Given the description of an element on the screen output the (x, y) to click on. 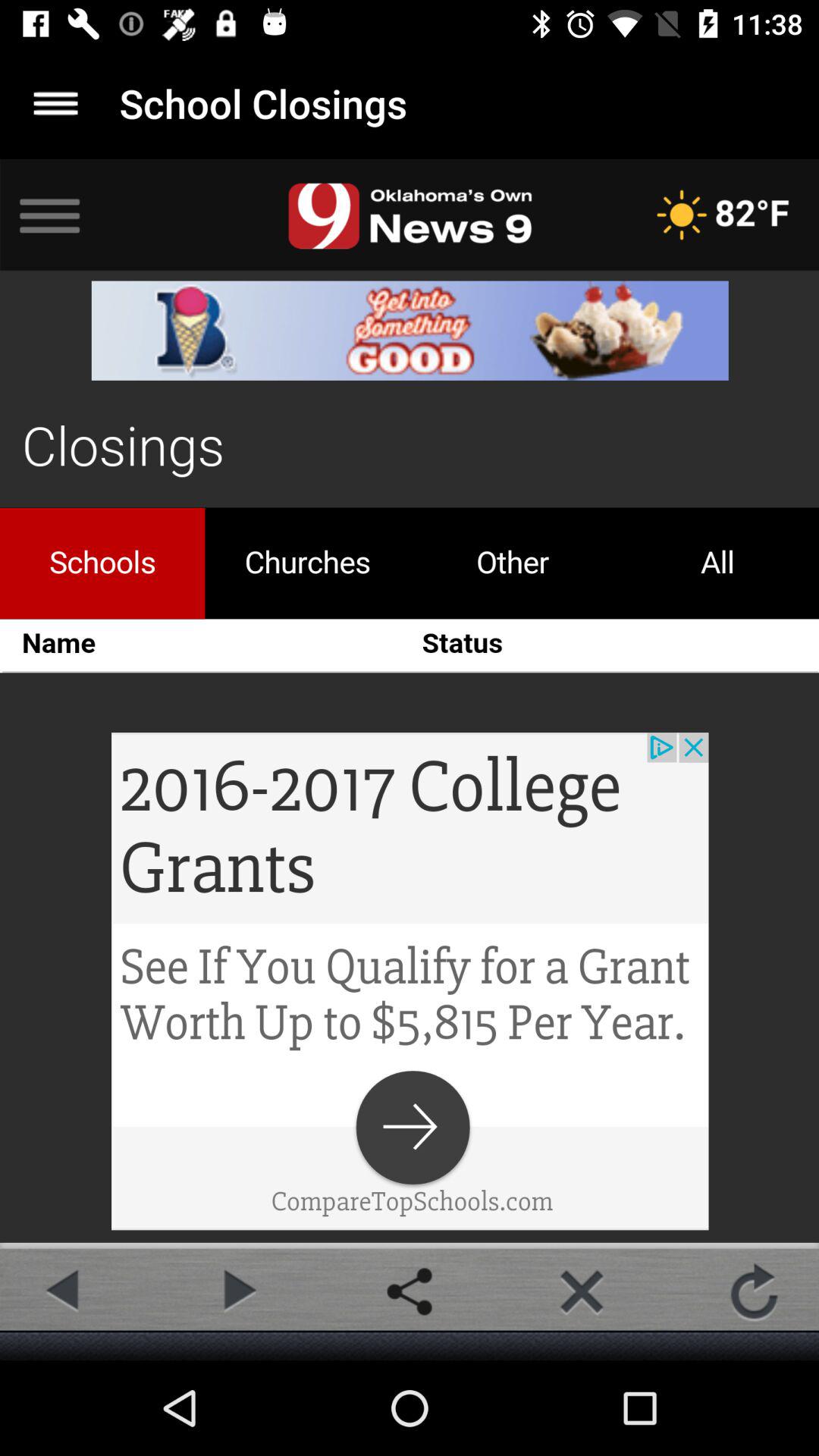
share the information (409, 1291)
